Given the description of an element on the screen output the (x, y) to click on. 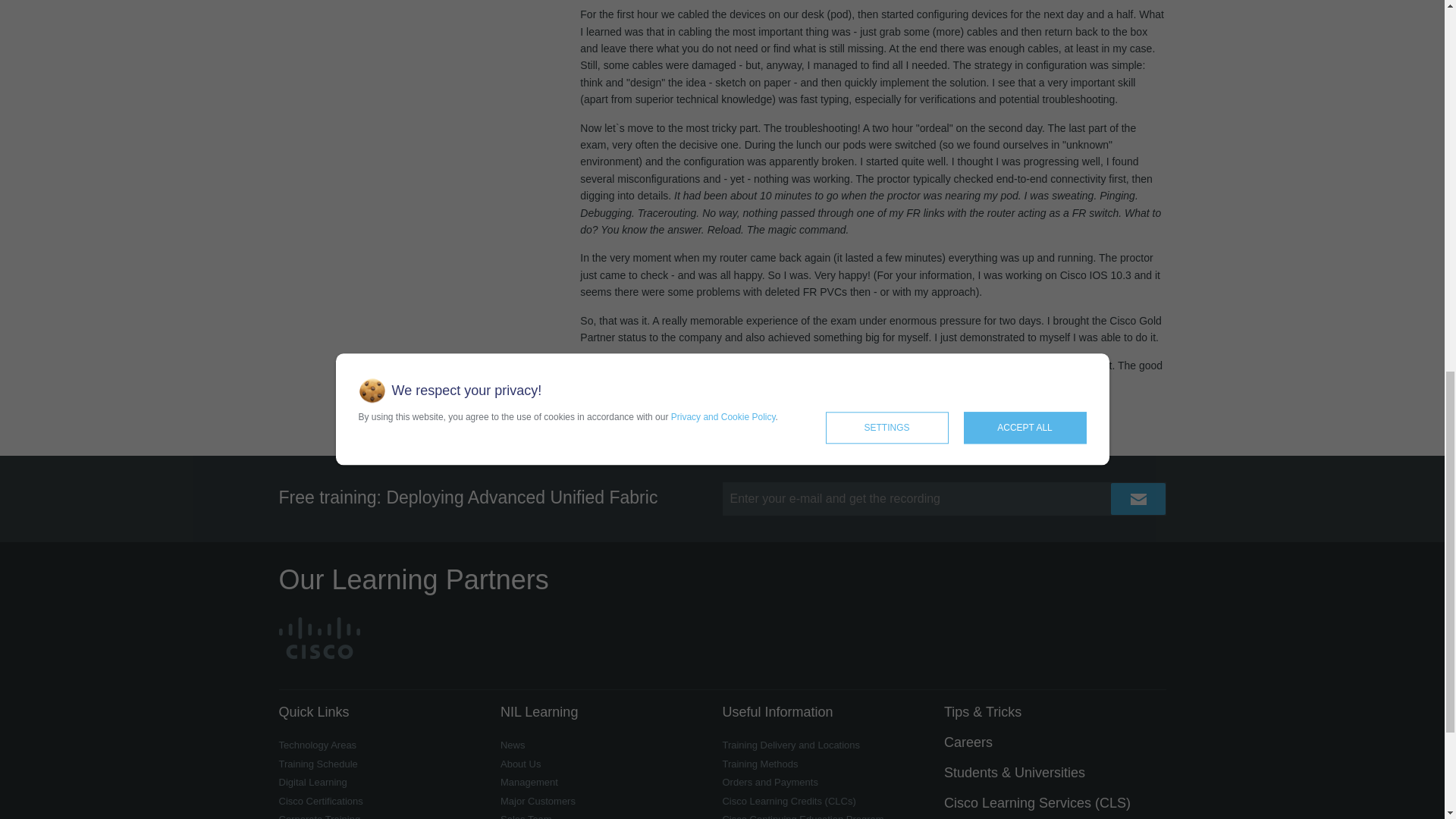
Cisco (319, 636)
Digital Learning (313, 781)
Training Schedule (318, 763)
Training Methods (759, 763)
Technology Areas (317, 745)
Training Delivery and Locations (791, 745)
News (512, 745)
Cisco Certifications (320, 800)
Major Customers (537, 800)
About Us (520, 763)
Orders and Payments (769, 781)
Sales Team (525, 816)
Corporate Training (320, 816)
Management (528, 781)
